Given the description of an element on the screen output the (x, y) to click on. 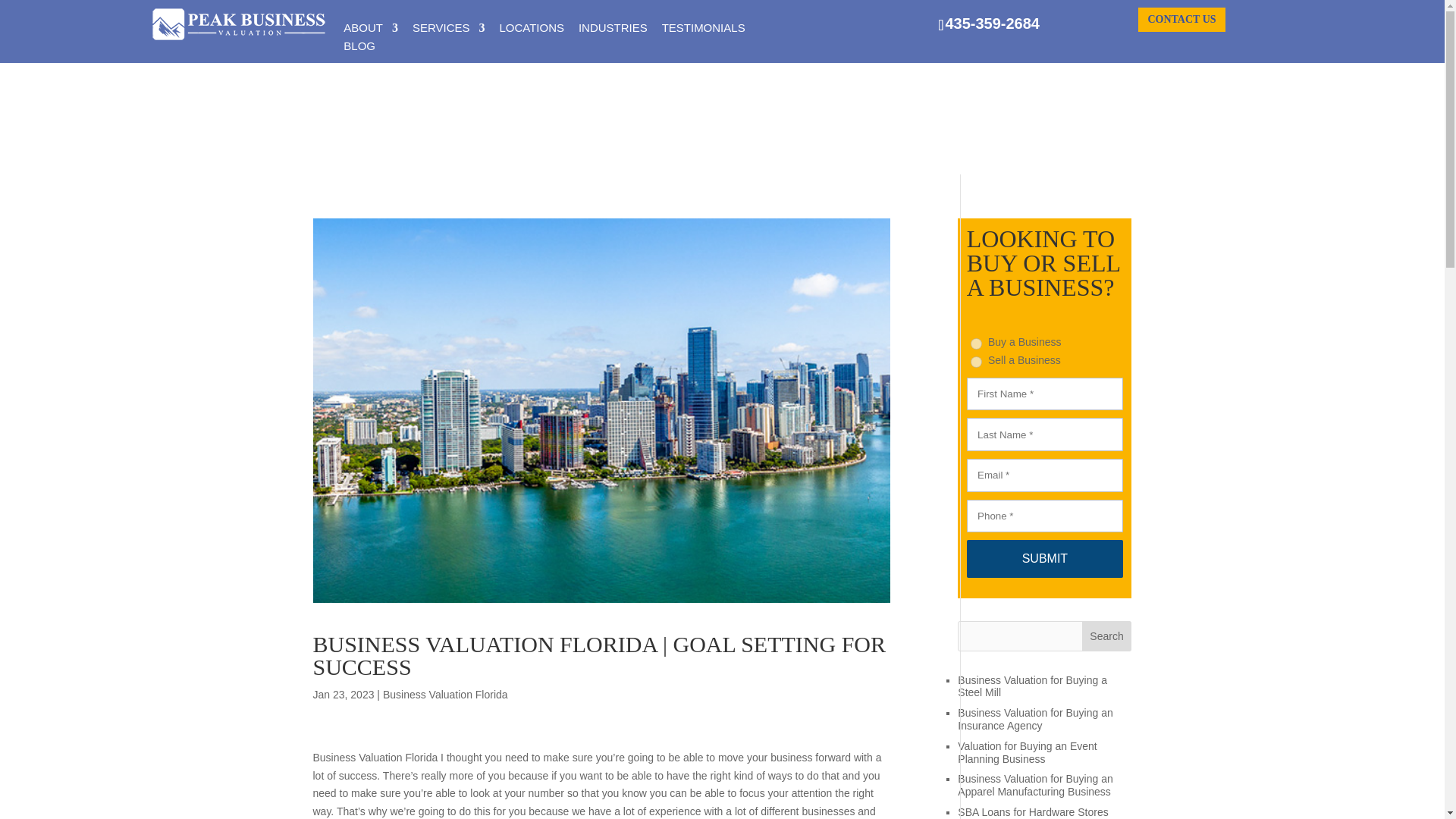
SERVICES (448, 31)
Search (1106, 635)
CONTACT US (1181, 19)
Business Valuation for Buying an Insurance Agency (1035, 719)
SBA Loans for Hardware Stores (1033, 811)
Valuation for Buying an Event Planning Business (1027, 752)
435-359-2684 (988, 24)
Business Valuation Florida (445, 694)
SUBMIT (1044, 558)
ABOUT (370, 31)
INDUSTRIES (612, 31)
Business Valuation for Buying a Steel Mill (1032, 686)
BLOG (359, 49)
TESTIMONIALS (703, 31)
LOCATIONS (531, 31)
